Given the description of an element on the screen output the (x, y) to click on. 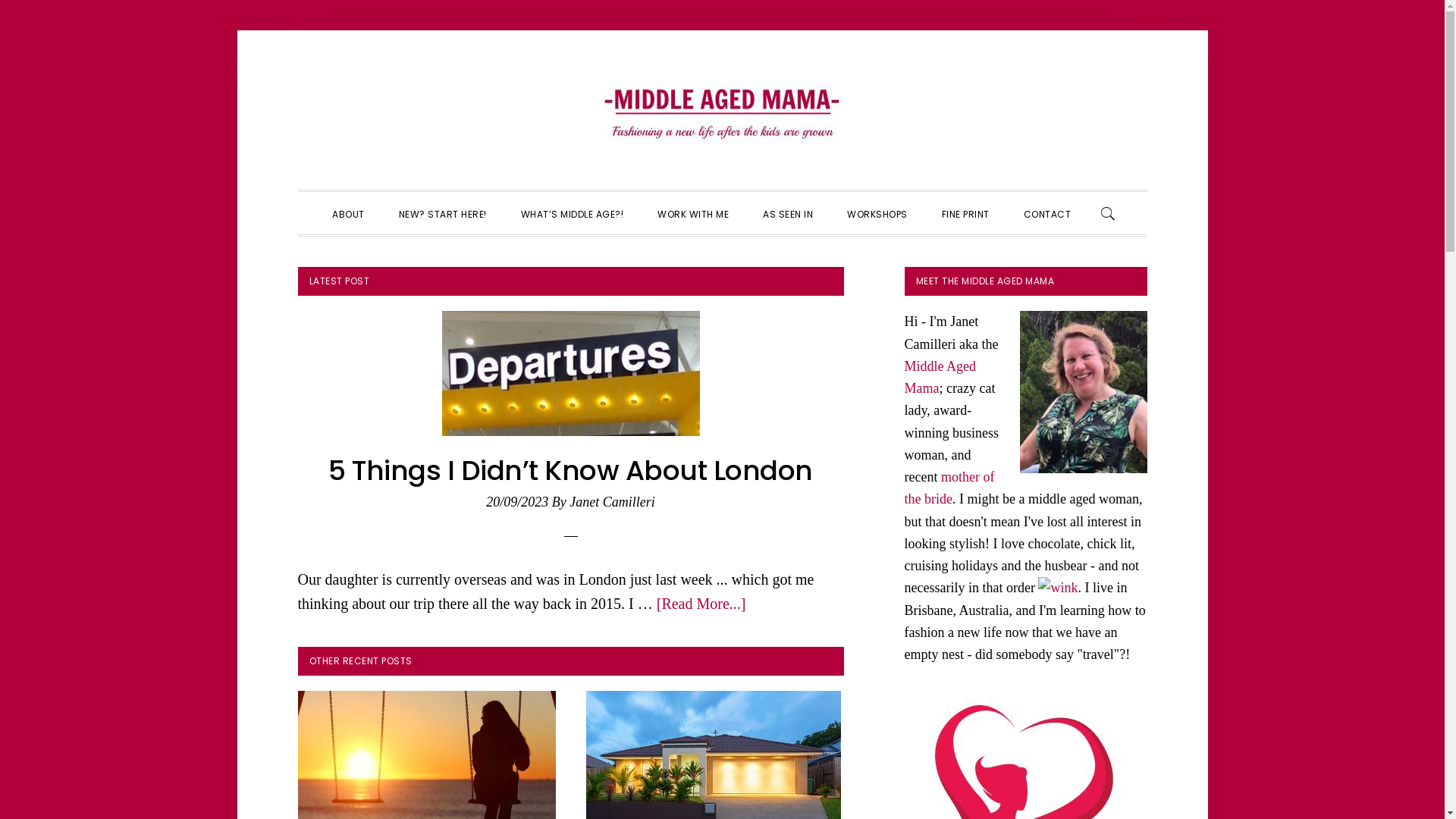
Janet Camilleri Element type: text (611, 501)
wink by redlandcitygirl, on Flickr Element type: hover (1057, 587)
mother of the bride Element type: text (948, 487)
ABOUT Element type: text (347, 212)
WORK WITH ME Element type: text (692, 212)
MIDDLE AGED MAMA Element type: text (721, 113)
Middle Aged Mama Element type: text (939, 376)
FINE PRINT Element type: text (965, 212)
SHOW SEARCH Element type: text (1108, 212)
AS SEEN IN Element type: text (787, 212)
Skip to primary navigation Element type: text (297, 30)
NEW? START HERE! Element type: text (442, 212)
CONTACT Element type: text (1047, 212)
WORKSHOPS Element type: text (876, 212)
